Given the description of an element on the screen output the (x, y) to click on. 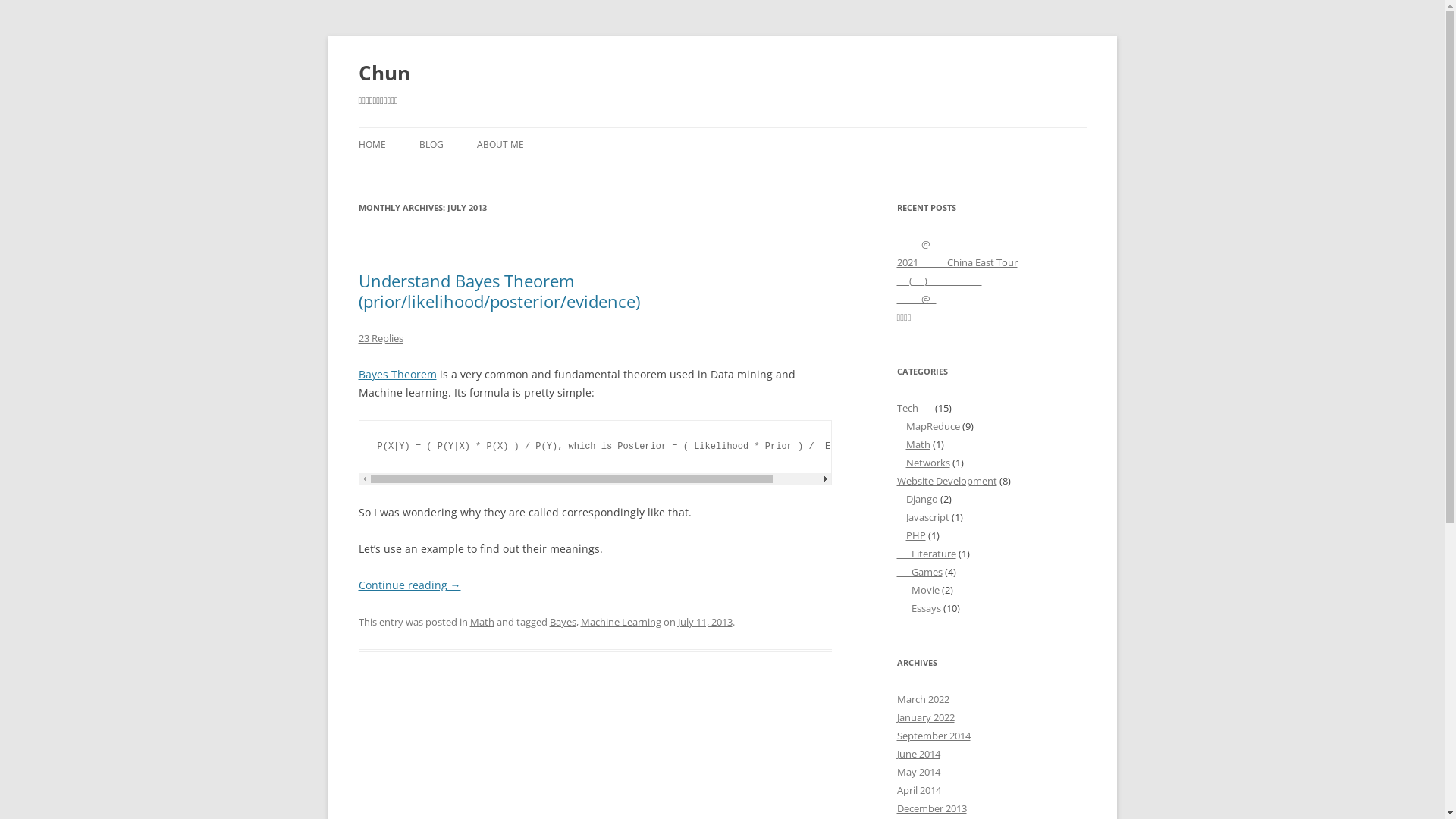
HOME Element type: text (371, 144)
Bayes Element type: text (562, 621)
July 11, 2013 Element type: text (704, 621)
Django Element type: text (921, 498)
Chun Element type: text (383, 72)
Skip to content Element type: text (721, 127)
PHP Element type: text (915, 535)
Website Development Element type: text (946, 480)
March 2022 Element type: text (922, 699)
Networks Element type: text (927, 462)
Bayes Theorem Element type: text (396, 374)
December 2013 Element type: text (931, 808)
Machine Learning Element type: text (620, 621)
23 Replies Element type: text (379, 338)
ABOUT ME Element type: text (499, 144)
April 2014 Element type: text (918, 790)
May 2014 Element type: text (917, 771)
June 2014 Element type: text (917, 753)
January 2022 Element type: text (924, 717)
MapReduce Element type: text (932, 426)
BLOG Element type: text (430, 144)
Javascript Element type: text (926, 517)
Math Element type: text (917, 444)
Math Element type: text (482, 621)
September 2014 Element type: text (932, 735)
